Given the description of an element on the screen output the (x, y) to click on. 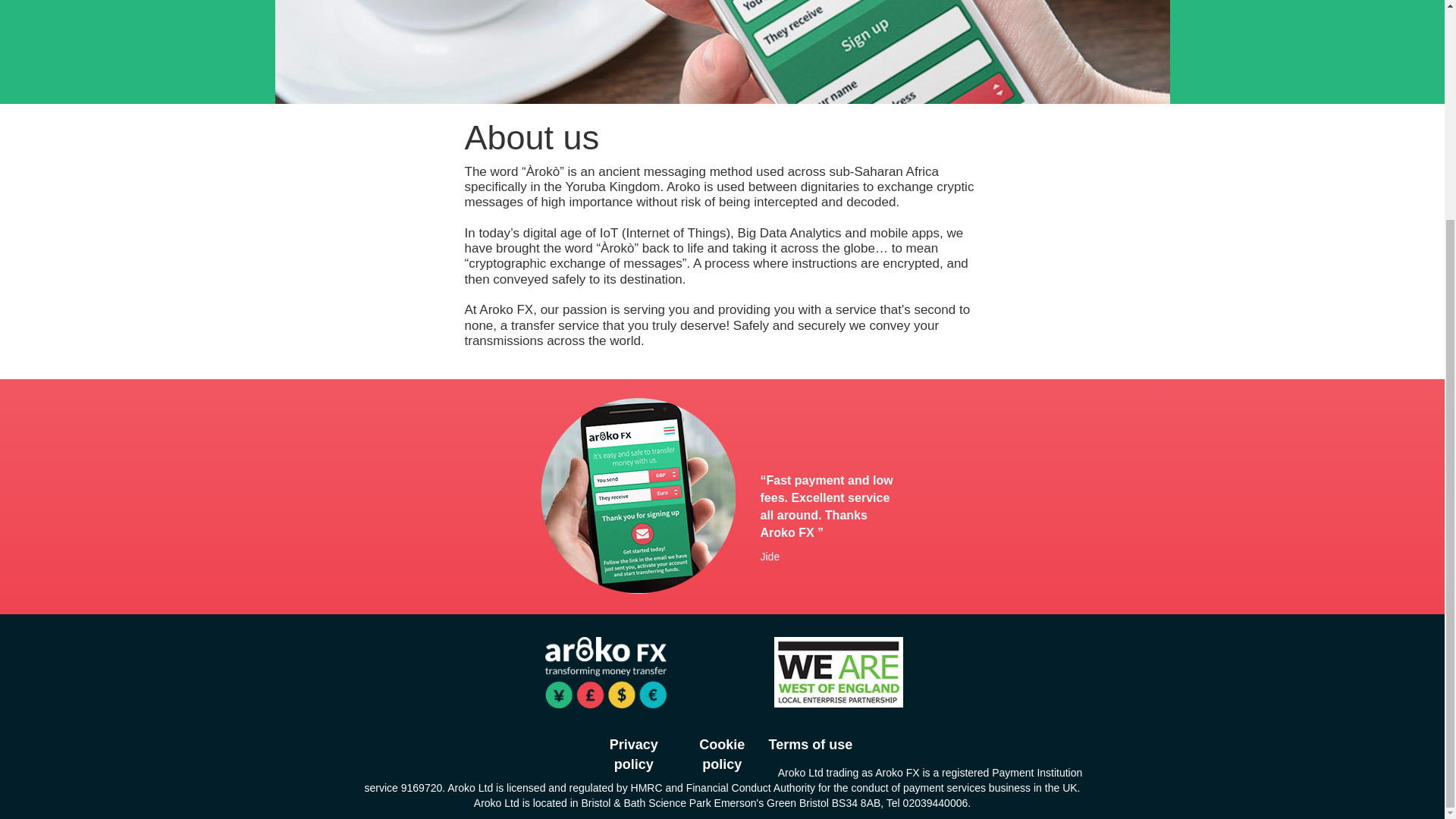
Terms of use (811, 745)
Cookie policy (722, 754)
Privacy policy (633, 754)
